Given the description of an element on the screen output the (x, y) to click on. 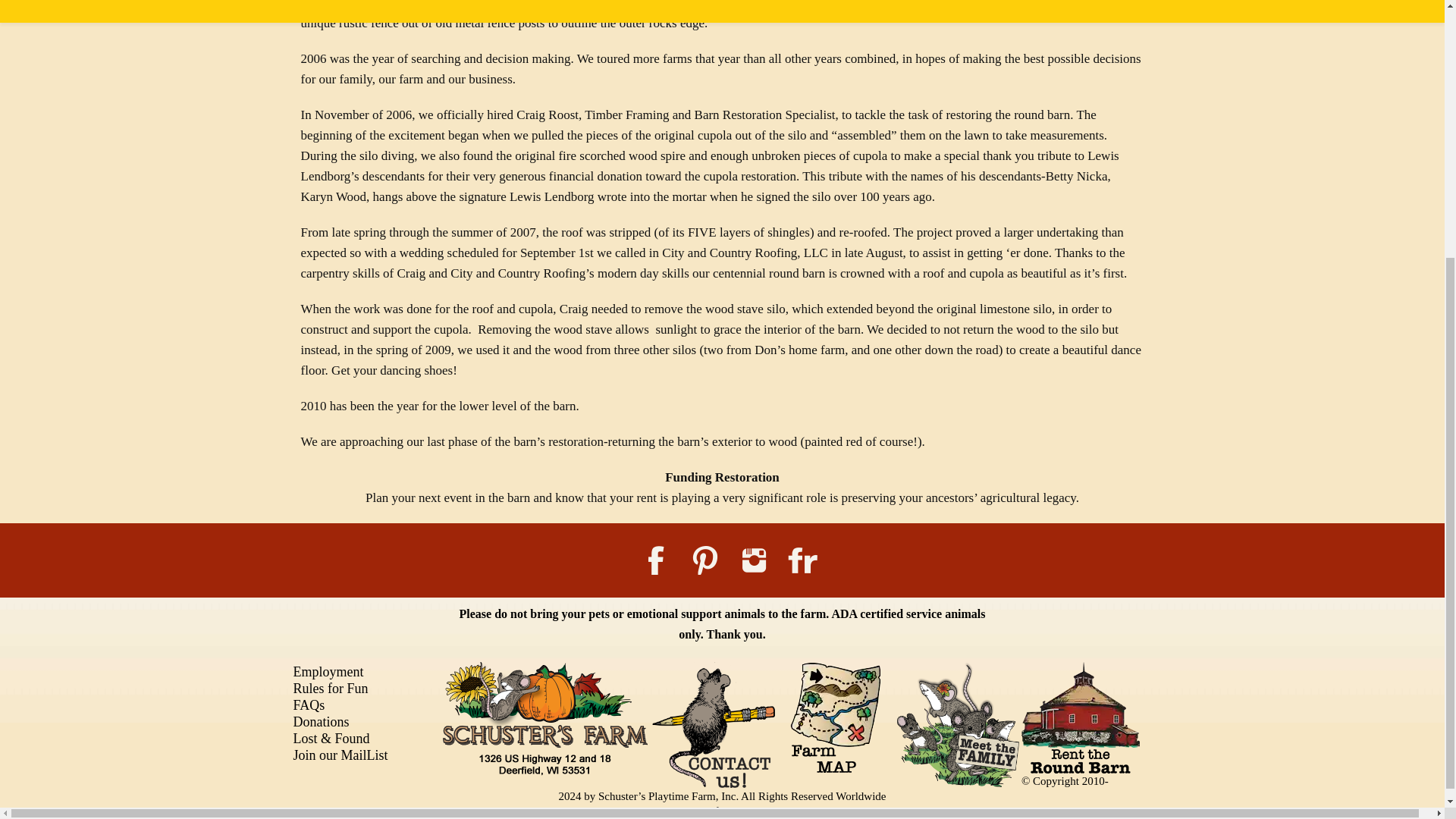
Donations (320, 721)
FAQs (308, 704)
Rules for Fun (330, 688)
Employment (328, 671)
